Given the description of an element on the screen output the (x, y) to click on. 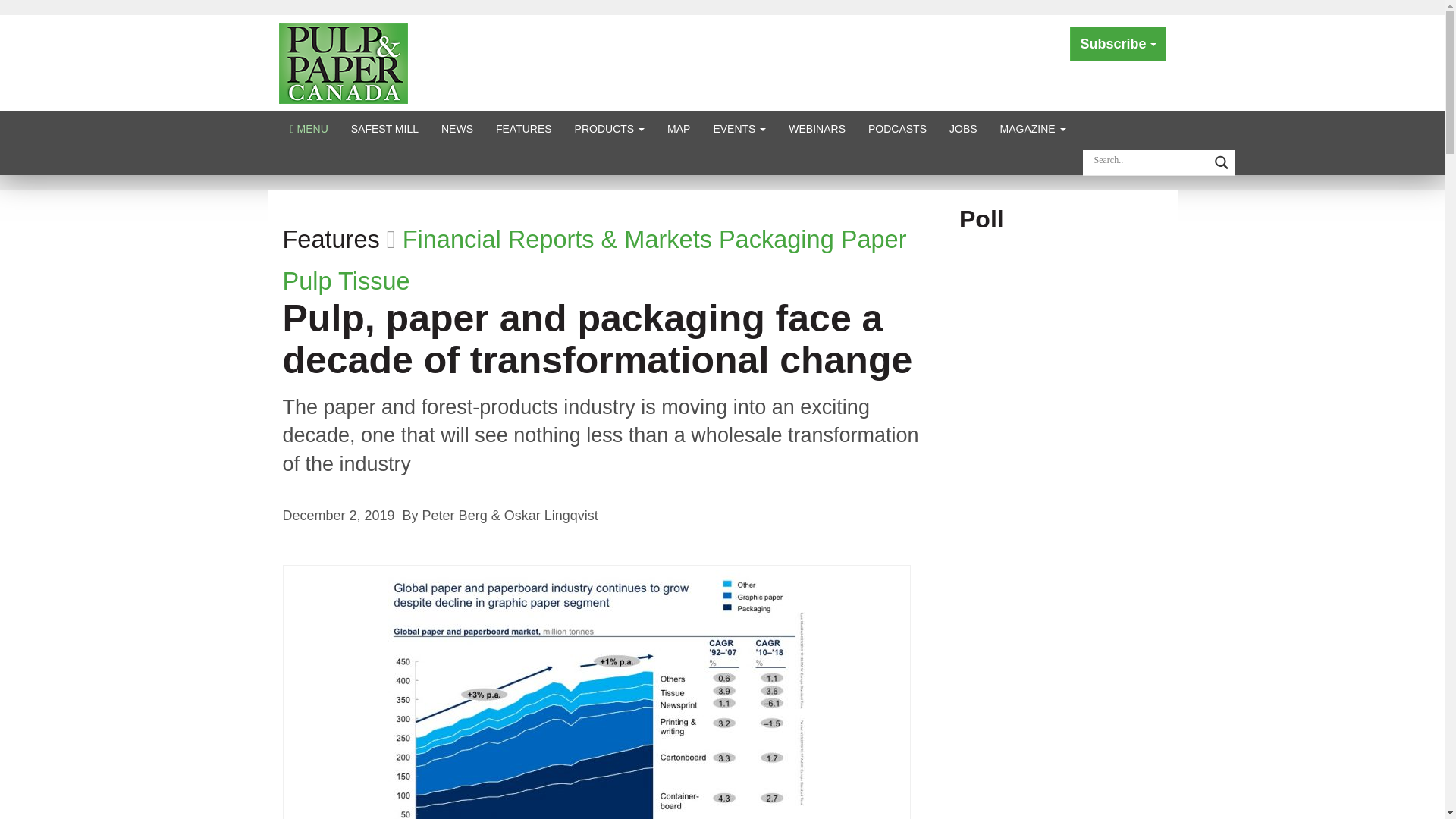
Click to show site navigation (309, 128)
MAGAZINE (1032, 128)
NEWS (456, 128)
Pulp and Paper Canada (343, 61)
Subscribe (1118, 43)
WEBINARS (817, 128)
JOBS (962, 128)
MAP (678, 128)
FEATURES (523, 128)
SAFEST MILL (384, 128)
